Given the description of an element on the screen output the (x, y) to click on. 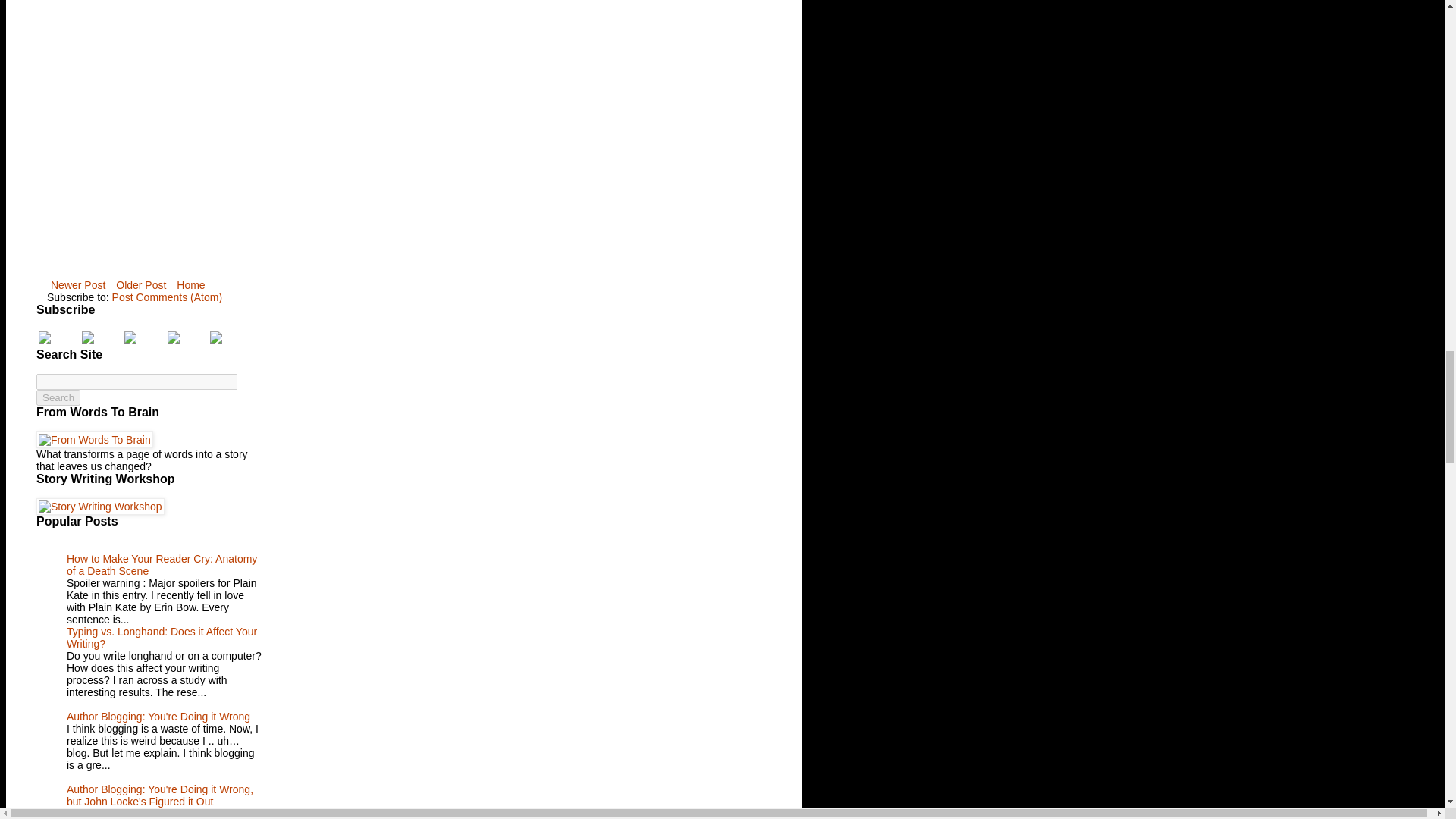
Older Post (141, 284)
Search (58, 397)
Newer Post (77, 284)
